Given the description of an element on the screen output the (x, y) to click on. 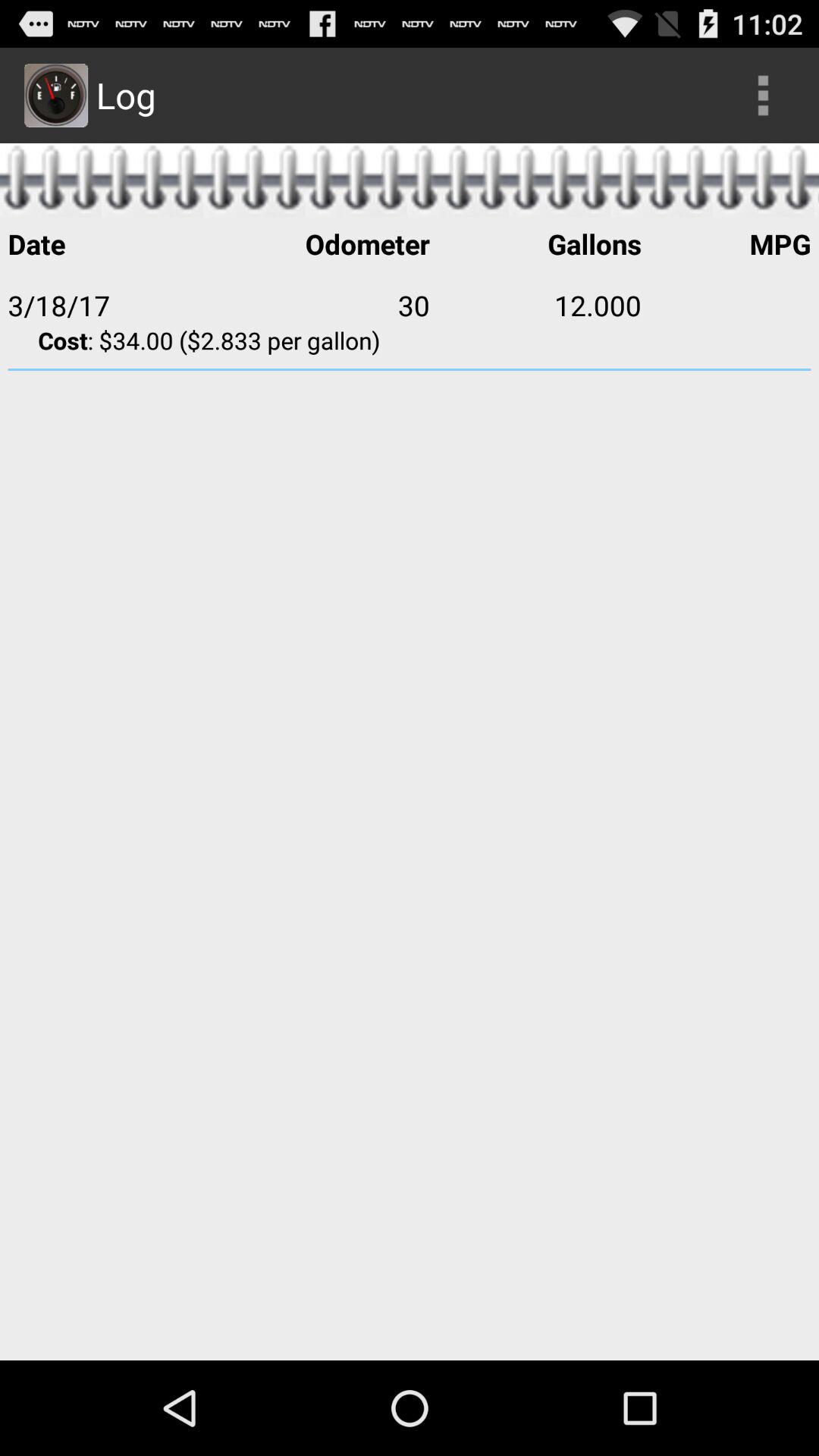
open app next to 30 app (112, 305)
